Given the description of an element on the screen output the (x, y) to click on. 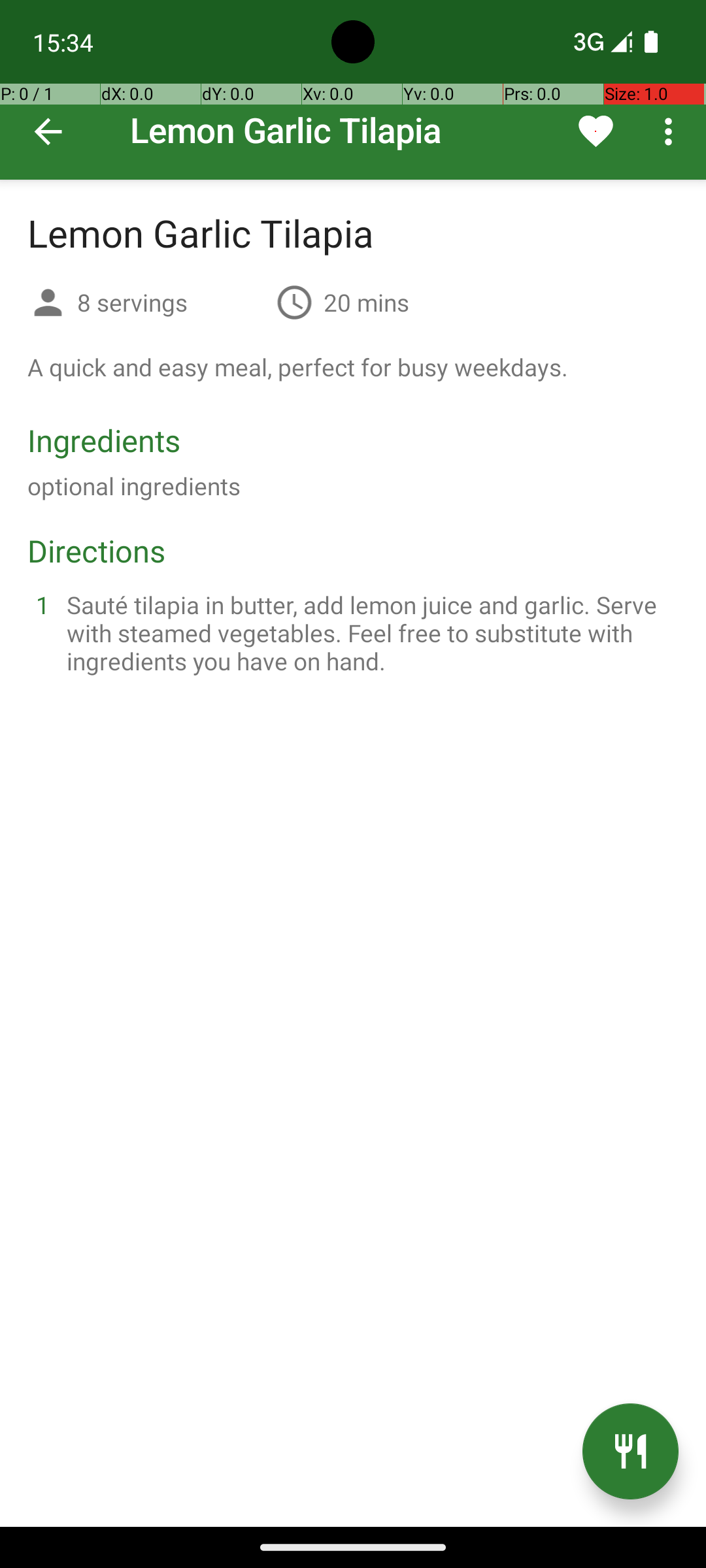
Lemon Garlic Tilapia Element type: android.widget.FrameLayout (353, 89)
20 mins Element type: android.widget.TextView (366, 301)
optional ingredients Element type: android.widget.TextView (133, 485)
Sauté tilapia in butter, add lemon juice and garlic. Serve with steamed vegetables. Feel free to substitute with ingredients you have on hand. Element type: android.widget.TextView (368, 632)
